Given the description of an element on the screen output the (x, y) to click on. 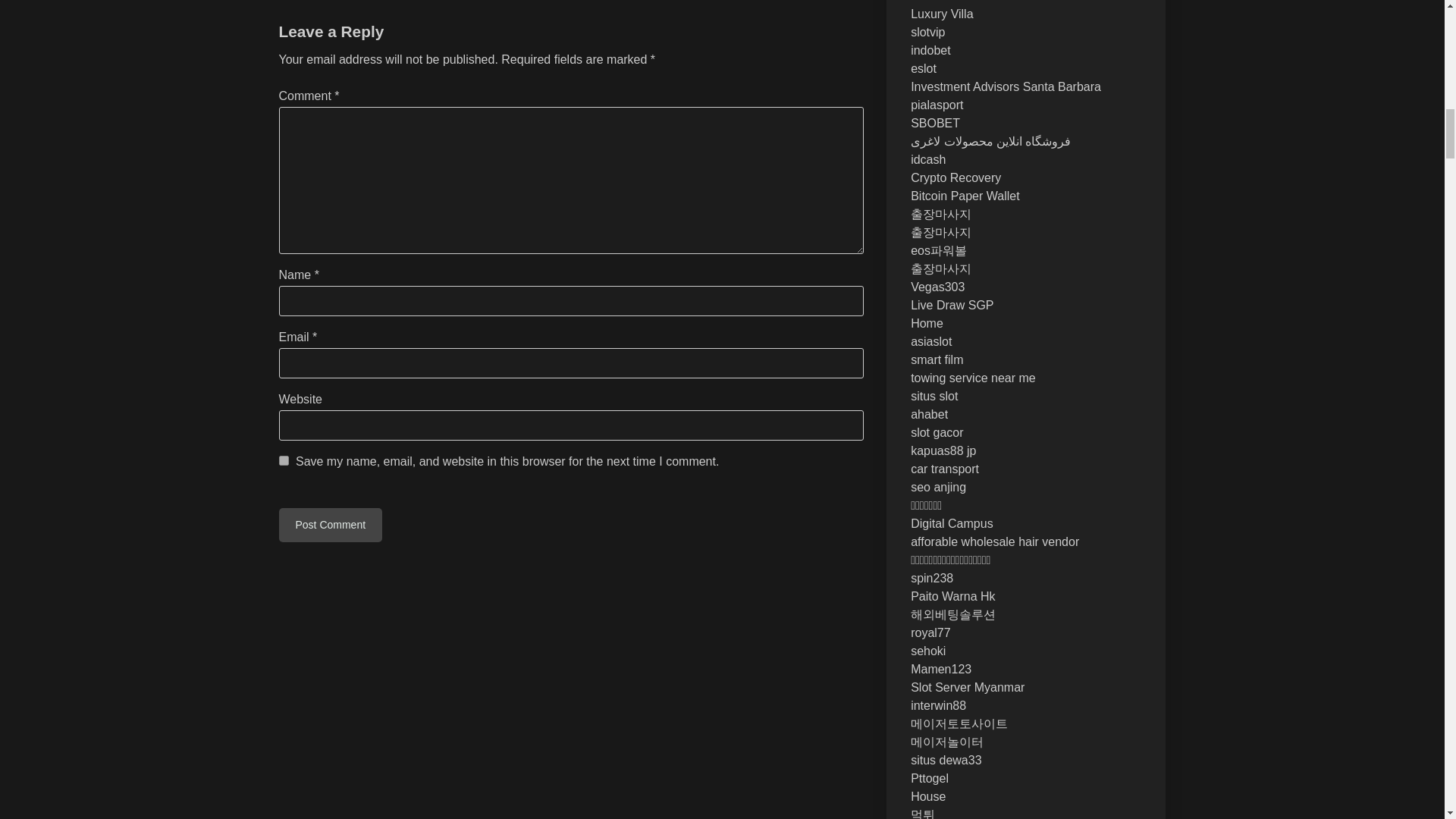
Post Comment (330, 524)
Post Comment (330, 524)
yes (283, 460)
